Given the description of an element on the screen output the (x, y) to click on. 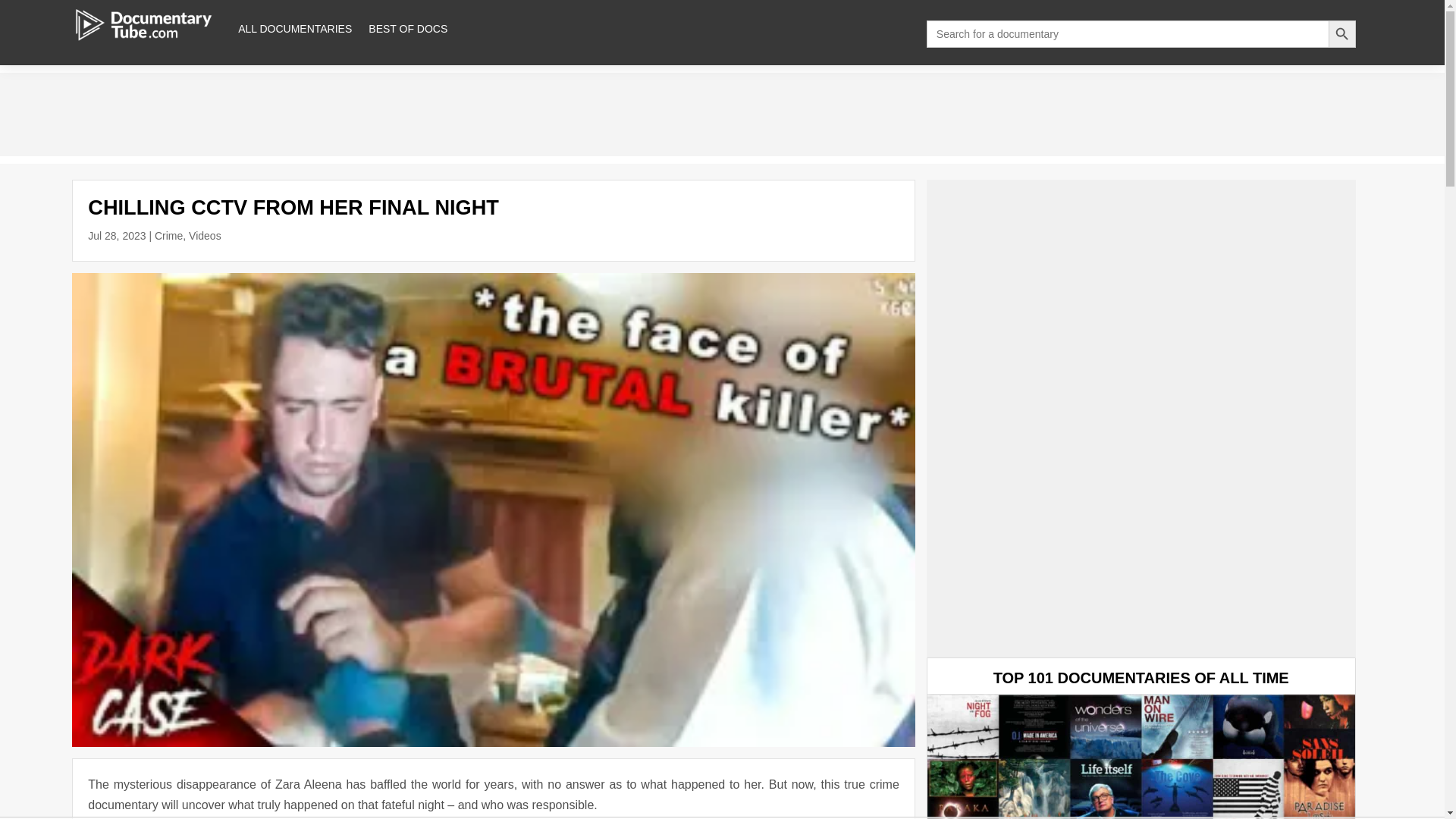
ALL DOCUMENTARIES (295, 28)
Crime (168, 235)
TOP 101 DOCUMENTARIES OF ALL TIME (1140, 677)
BEST OF DOCS (407, 28)
Search Button (1341, 33)
Videos (205, 235)
